Given the description of an element on the screen output the (x, y) to click on. 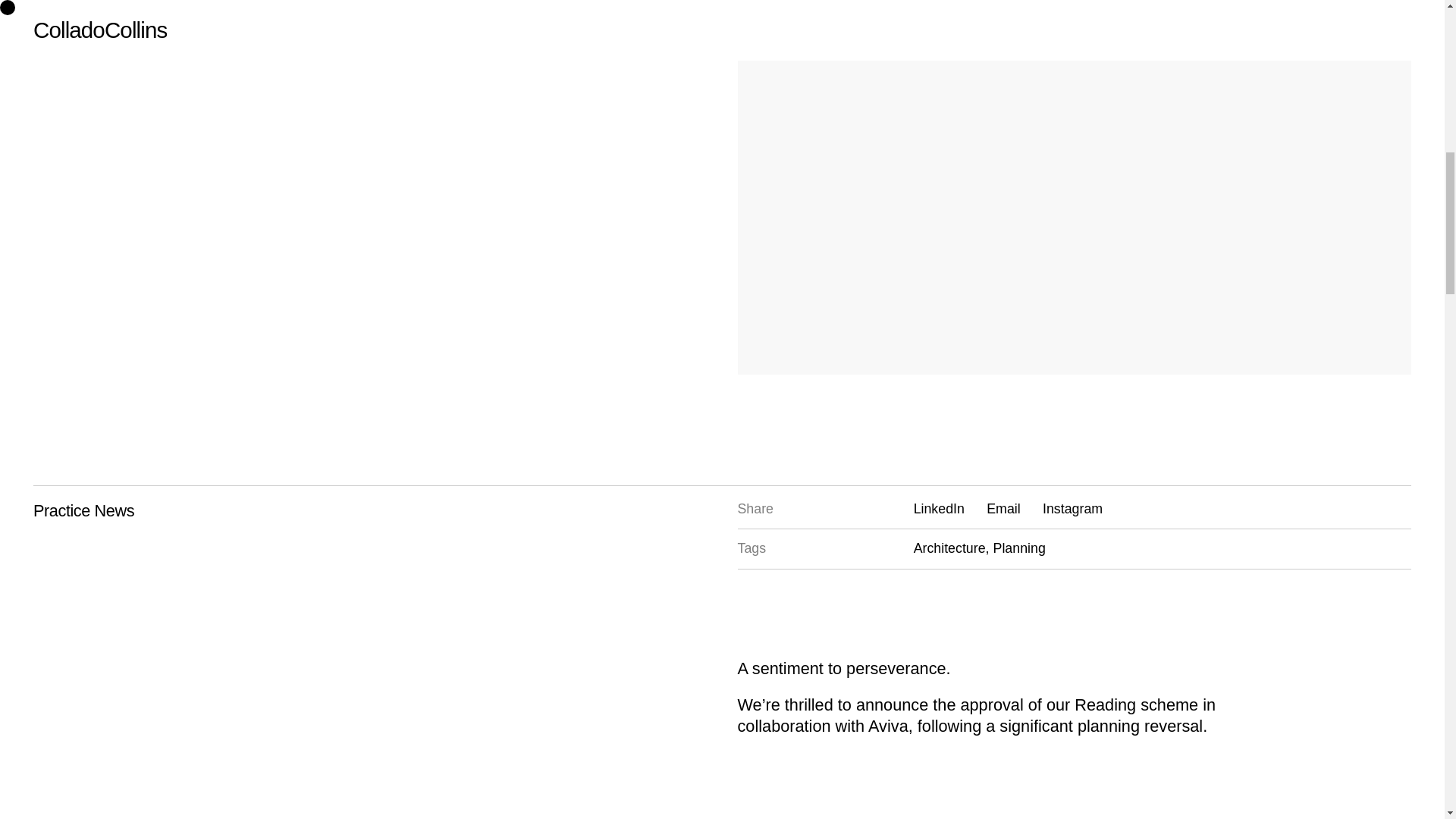
Email (1003, 508)
Instagram (1072, 508)
Planning (1018, 548)
LinkedIn (938, 508)
Architecture (952, 548)
